Given the description of an element on the screen output the (x, y) to click on. 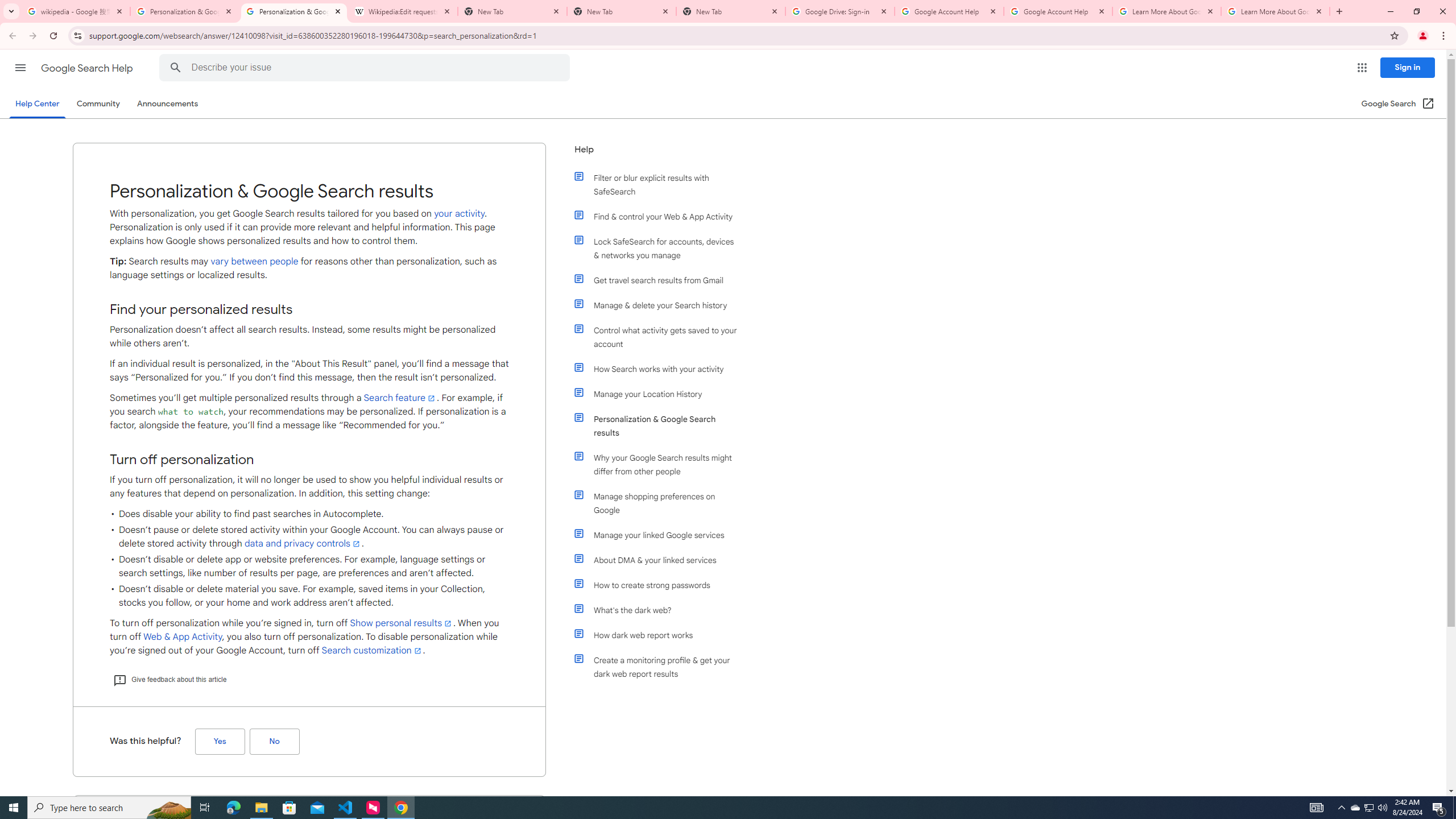
How dark web report works (661, 634)
How Search works with your activity (661, 368)
Wikipedia:Edit requests - Wikipedia (403, 11)
Announcements (168, 103)
